Given the description of an element on the screen output the (x, y) to click on. 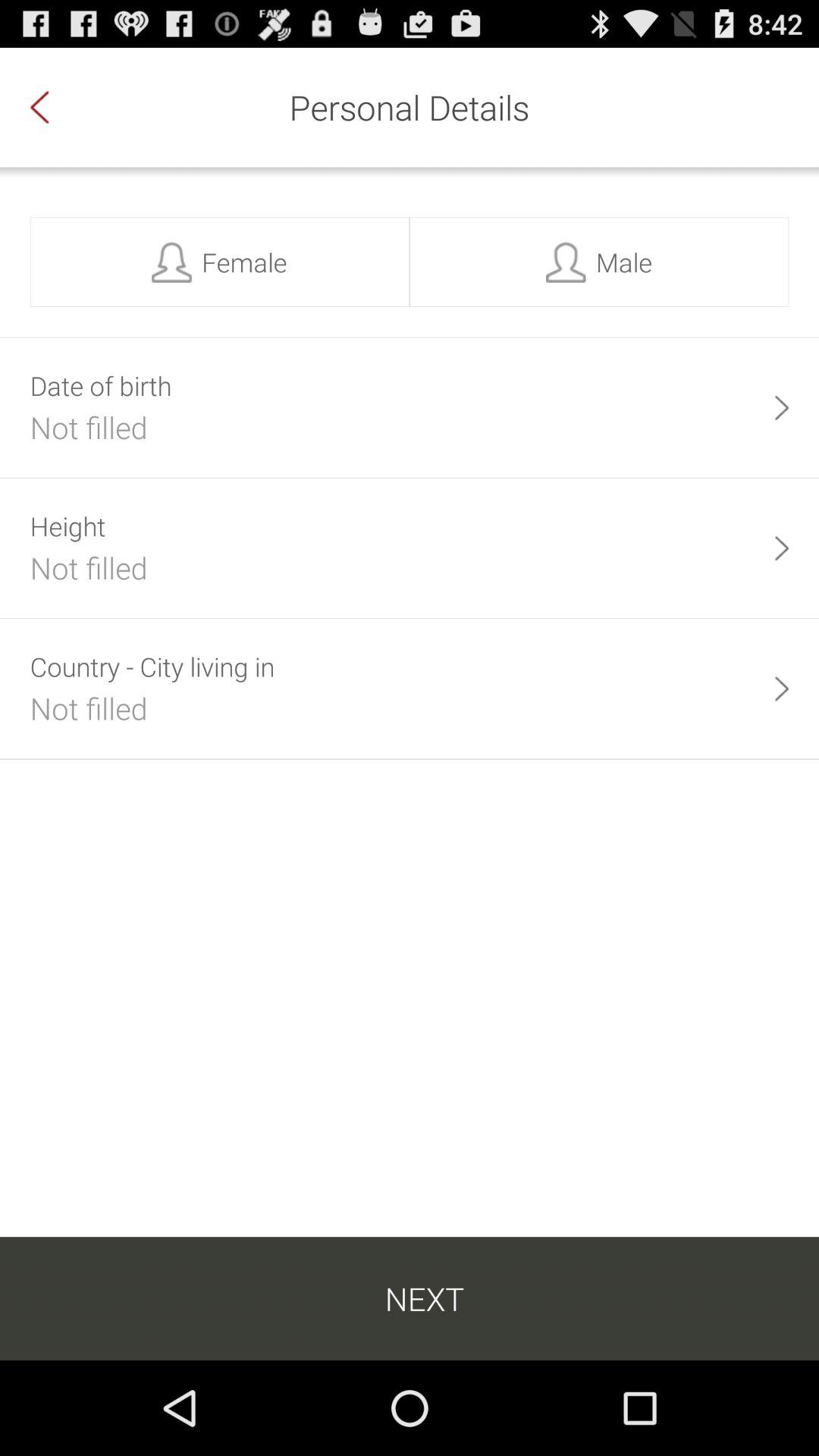
select the icon to the right of country city living (781, 688)
